Given the description of an element on the screen output the (x, y) to click on. 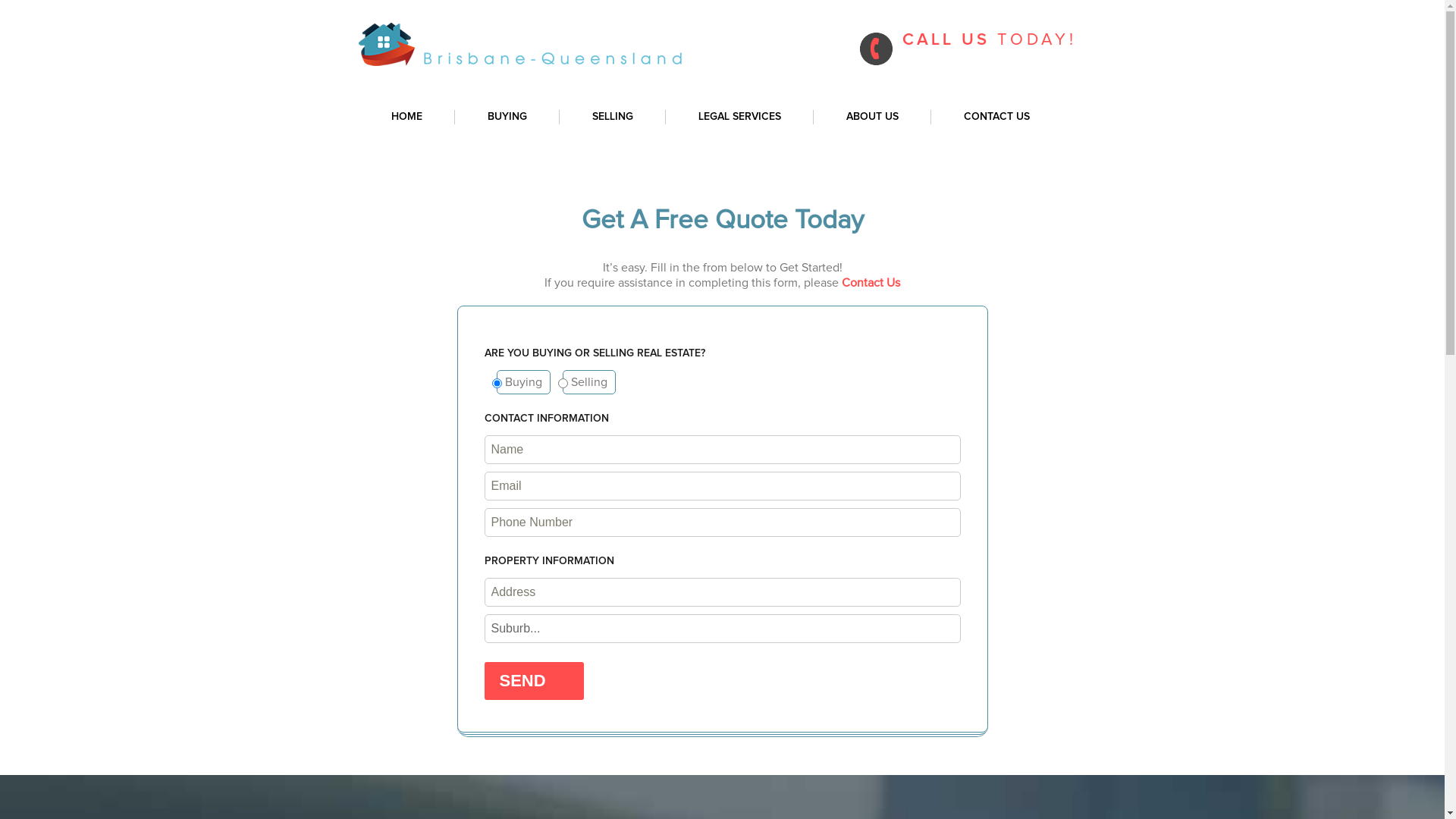
HOME Element type: text (405, 116)
Contact Us Element type: text (870, 282)
LEGAL SERVICES Element type: text (739, 116)
Send Element type: text (533, 680)
ABOUT US Element type: text (871, 116)
SELLING Element type: text (612, 116)
BUYING Element type: text (507, 116)
CONTACT US Element type: text (996, 116)
